Given the description of an element on the screen output the (x, y) to click on. 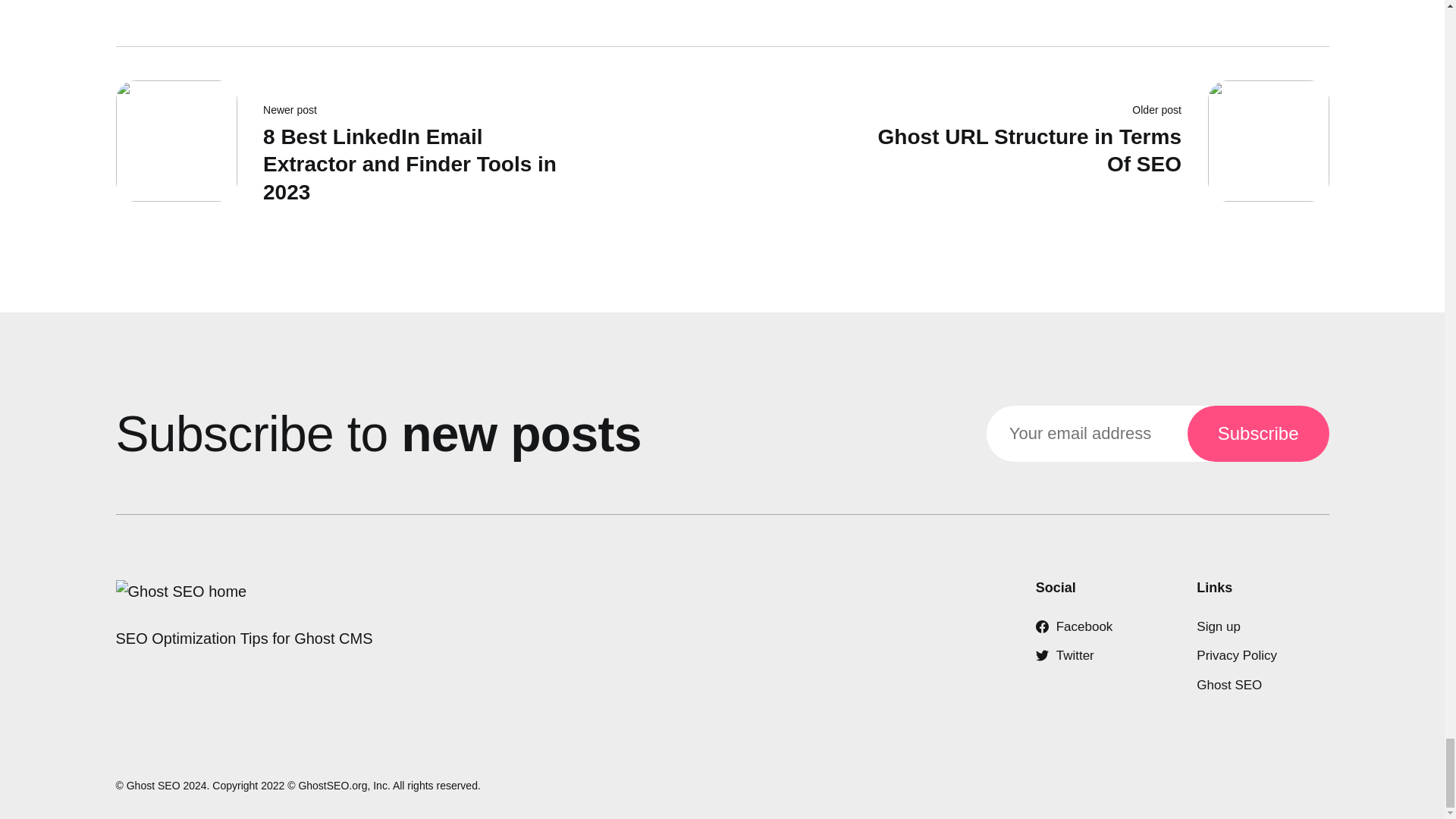
Sign up (1218, 626)
Privacy Policy (1236, 655)
Facebook (1074, 626)
Twitter (1064, 655)
Subscribe (1085, 147)
